Given the description of an element on the screen output the (x, y) to click on. 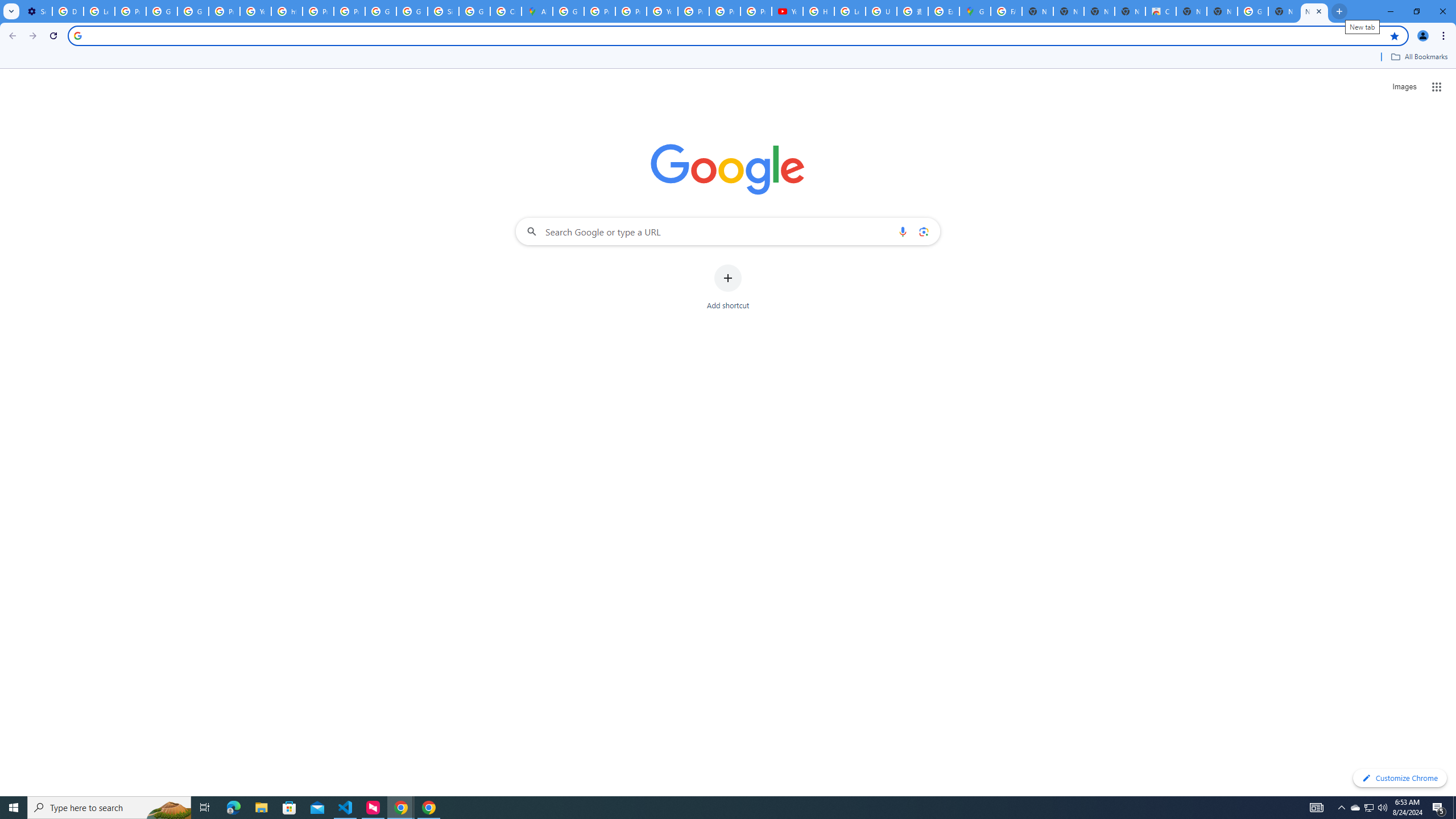
Settings - On startup (36, 11)
Google Account Help (161, 11)
Chrome Web Store (1160, 11)
Privacy Checkup (724, 11)
Delete photos & videos - Computer - Google Photos Help (67, 11)
Add shortcut (727, 287)
https://scholar.google.com/ (286, 11)
Google Images (1252, 11)
